Given the description of an element on the screen output the (x, y) to click on. 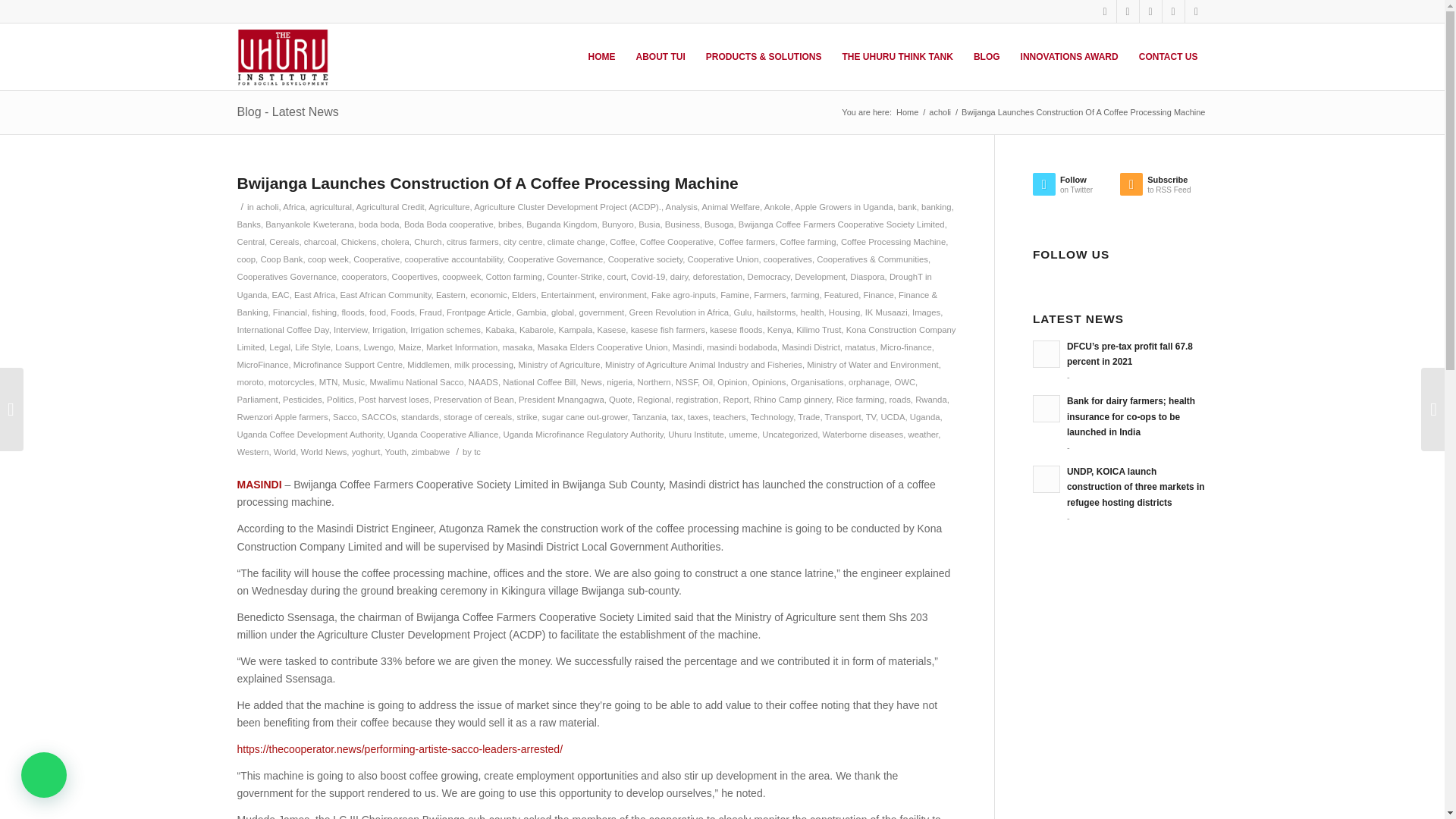
Analysis (681, 206)
Posts by tc (477, 451)
THE UHURU THINK TANK (896, 56)
Blog - Latest News (286, 111)
ABOUT TUI (659, 56)
Animal Welfare (730, 206)
Home (906, 112)
The Uhuru Institute for Social Development (906, 112)
Youtube (1196, 11)
Permanent Link: Blog - Latest News (286, 111)
CONTACT US (1168, 56)
acholi (267, 206)
Agriculture (448, 206)
Apple Growers in Uganda (843, 206)
